Given the description of an element on the screen output the (x, y) to click on. 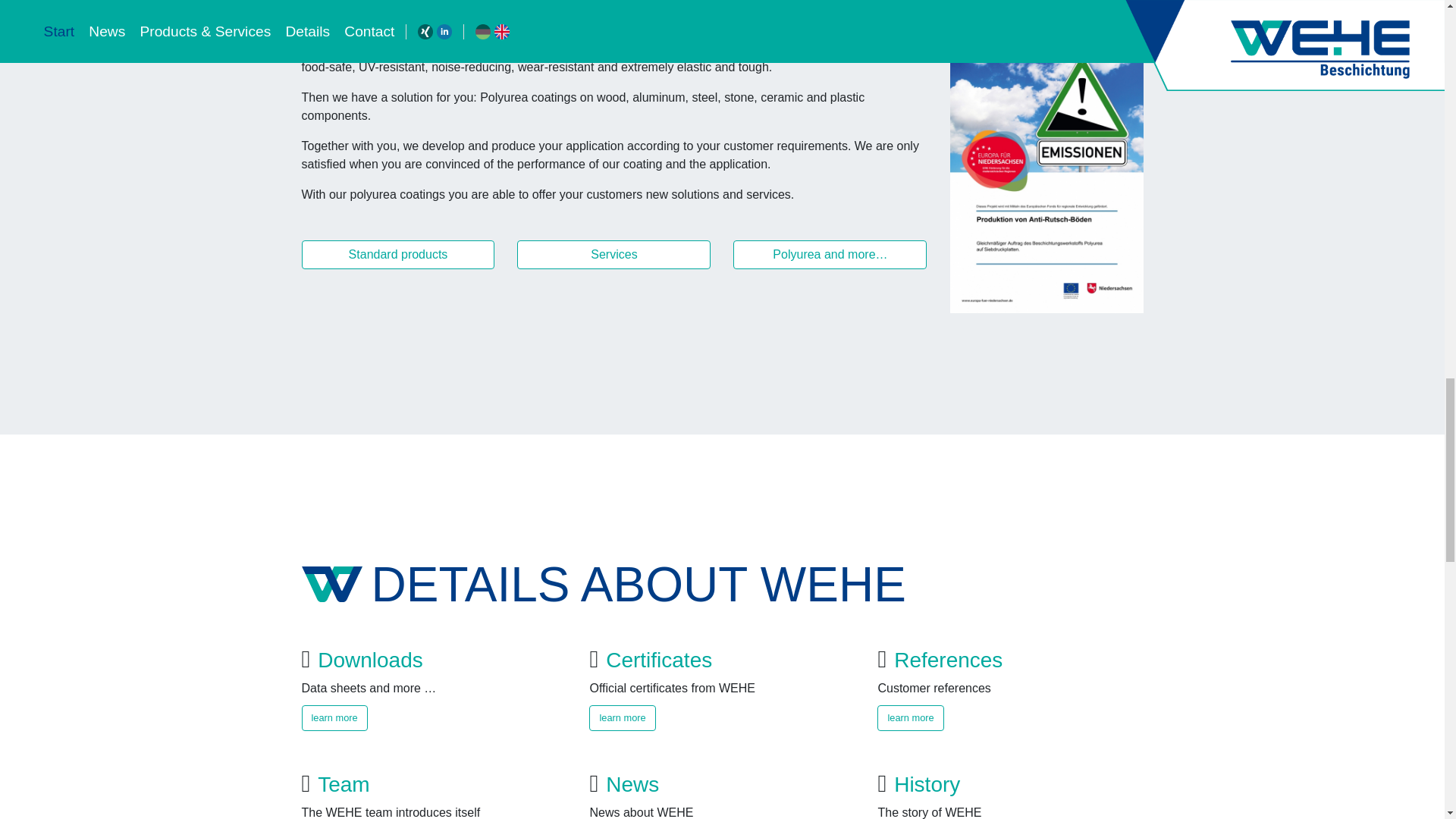
learn more (334, 717)
News (632, 784)
History (926, 784)
References (948, 659)
Team (343, 784)
learn more (910, 717)
Downloads (370, 659)
Certificates (658, 659)
Services (613, 254)
Standard products (398, 254)
learn more (622, 717)
